Given the description of an element on the screen output the (x, y) to click on. 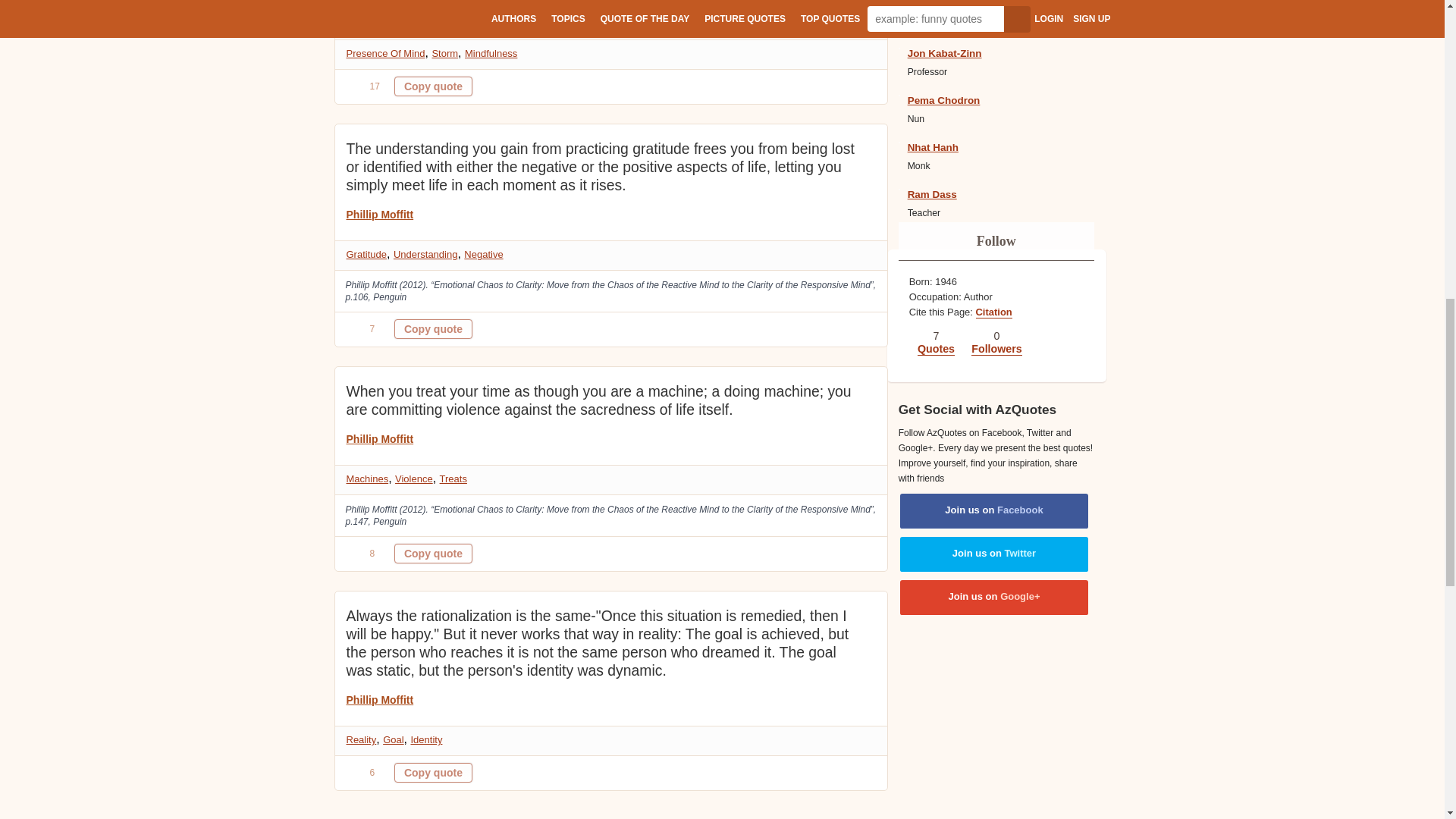
Quote is copied (432, 772)
Quote is copied (432, 553)
Quote is copied (432, 86)
Quote is copied (432, 329)
